Given the description of an element on the screen output the (x, y) to click on. 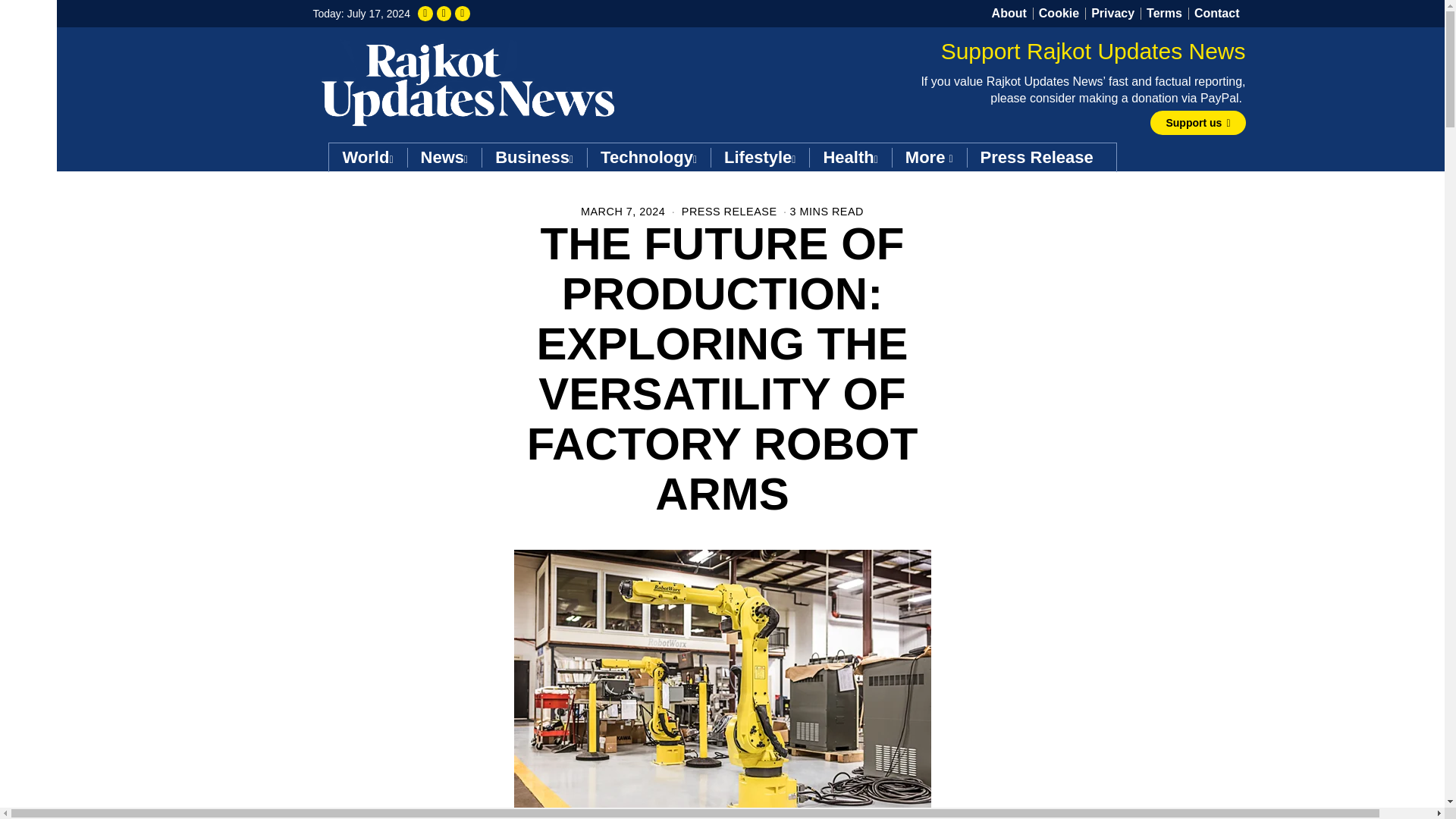
More (928, 157)
Lifestyle (759, 157)
Cookie (1396, 814)
News (1058, 13)
Health (444, 157)
Terms (850, 157)
About (1164, 13)
Support us (1008, 13)
Technology (1197, 122)
Business (648, 157)
Privacy (533, 157)
World (1112, 13)
Contact (368, 157)
